Given the description of an element on the screen output the (x, y) to click on. 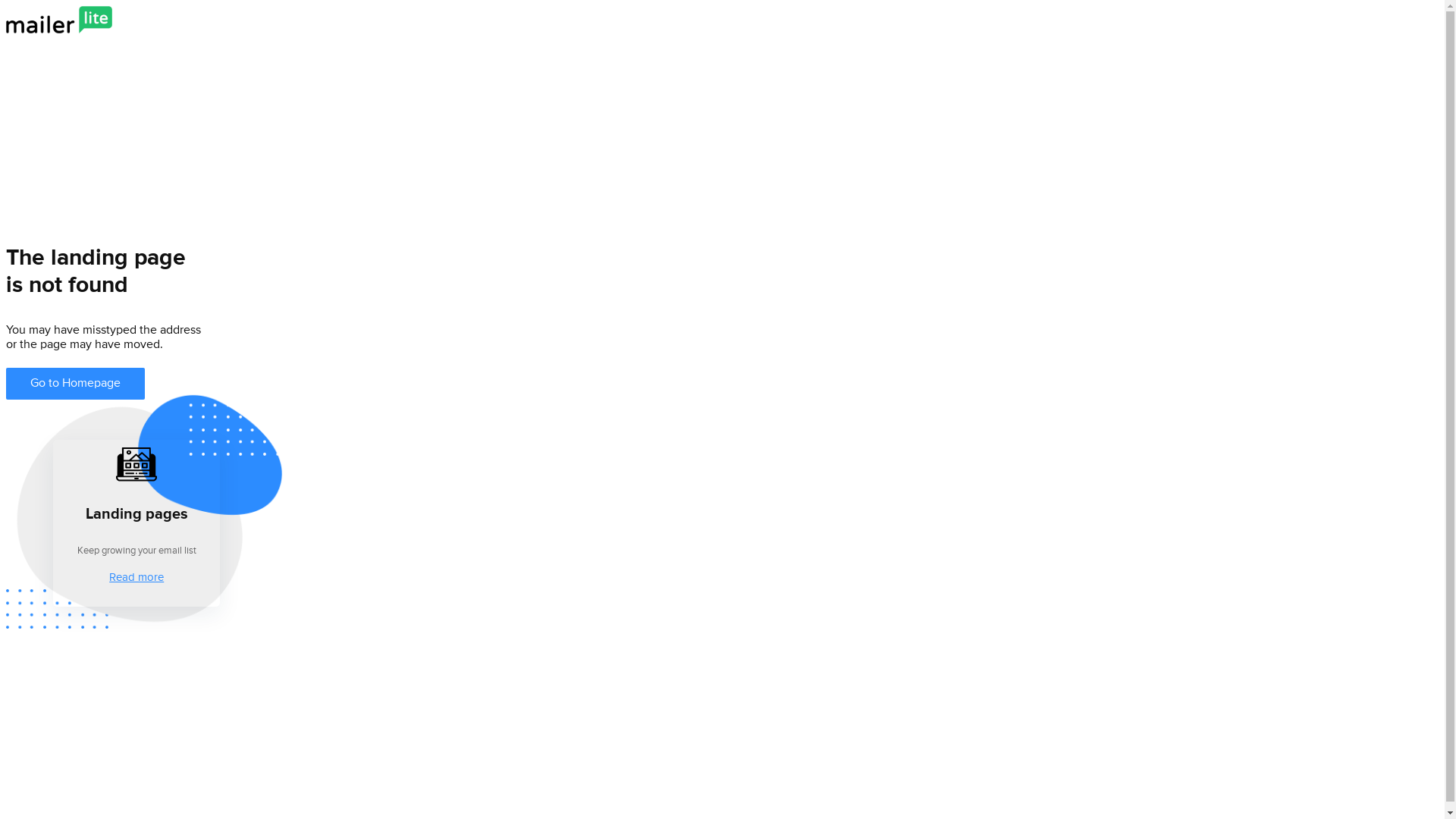
Go to Homepage Element type: text (75, 383)
Read more Element type: text (136, 577)
